Given the description of an element on the screen output the (x, y) to click on. 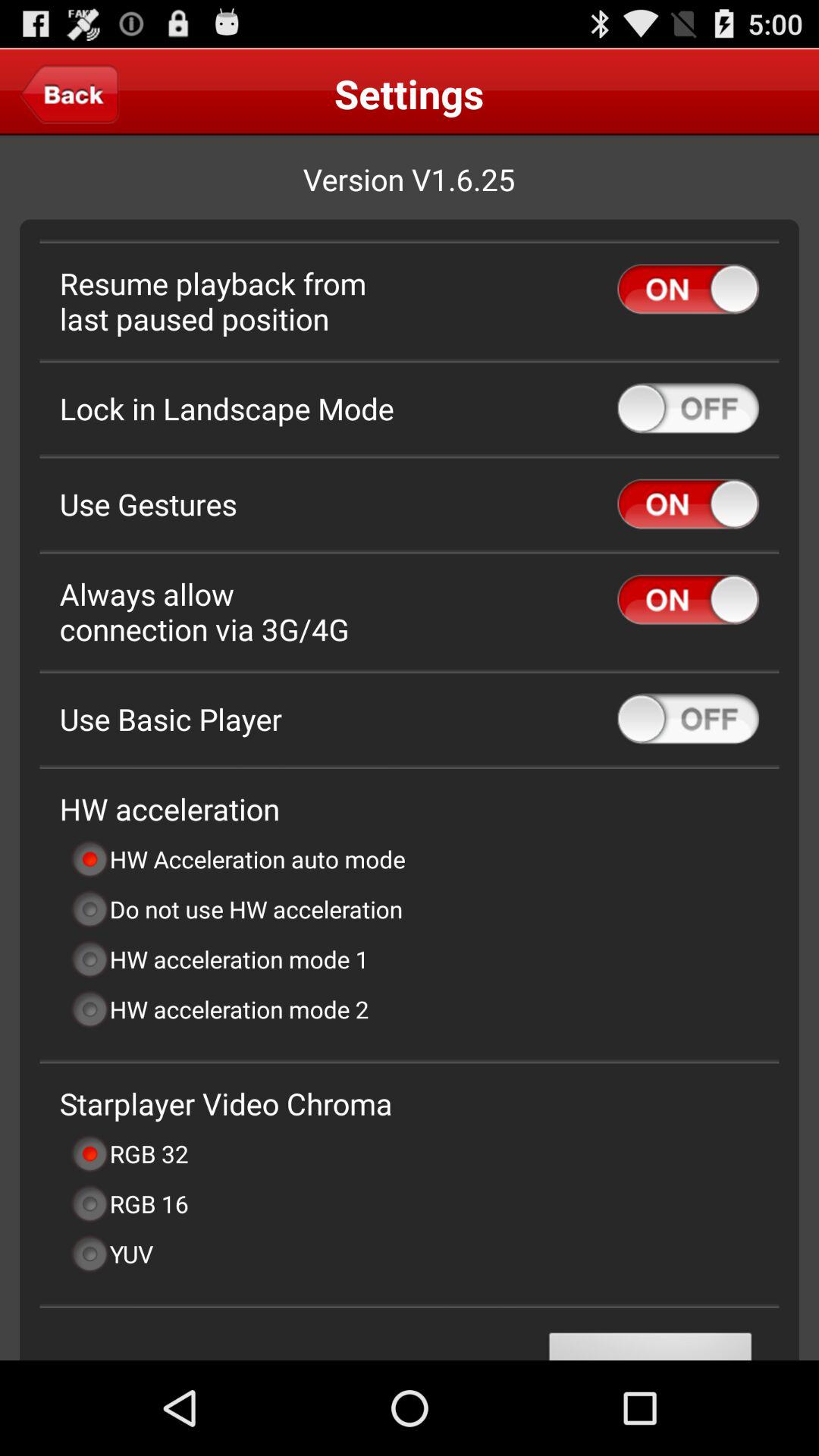
go back (69, 93)
